Given the description of an element on the screen output the (x, y) to click on. 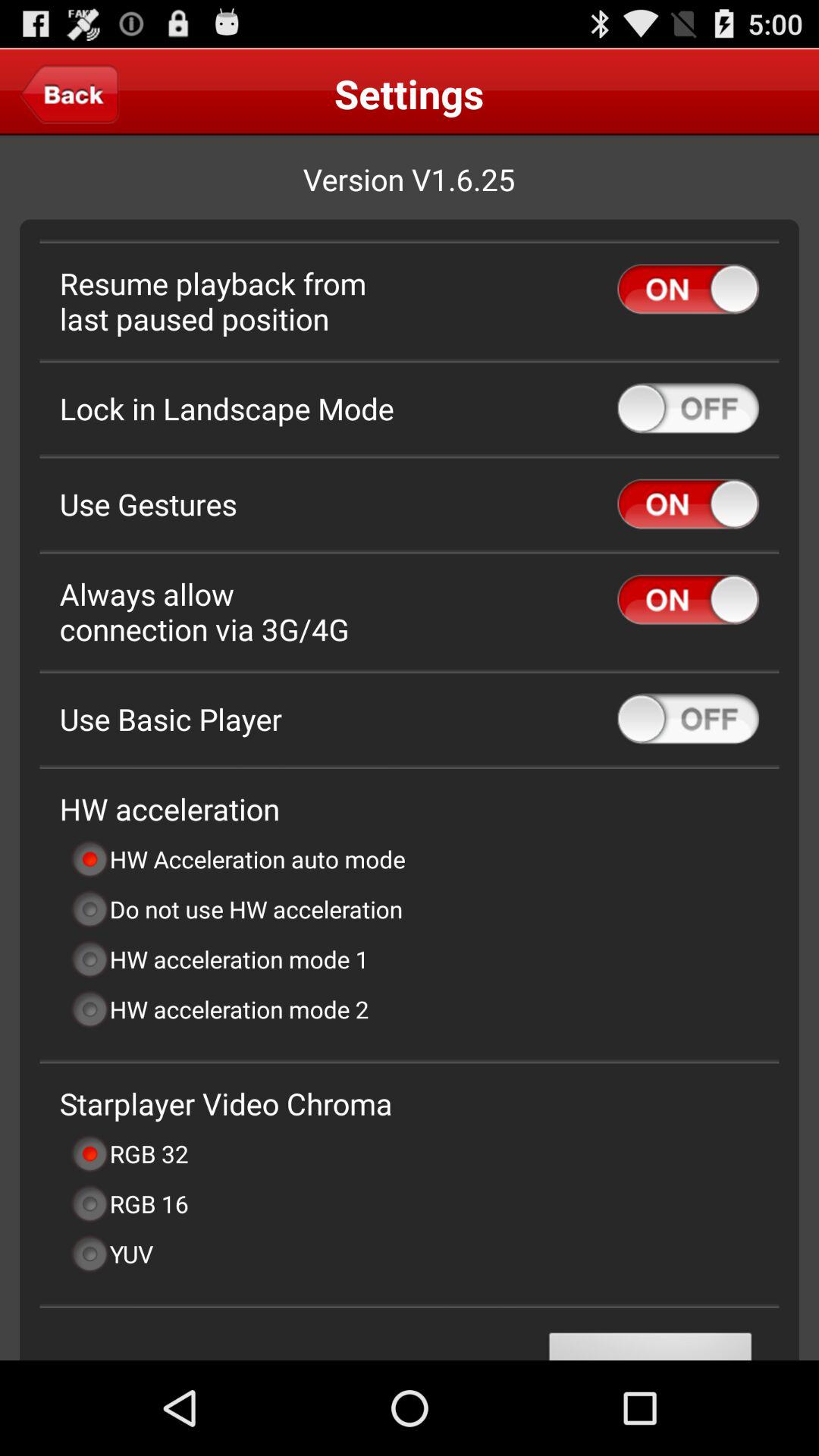
go back (69, 93)
